Given the description of an element on the screen output the (x, y) to click on. 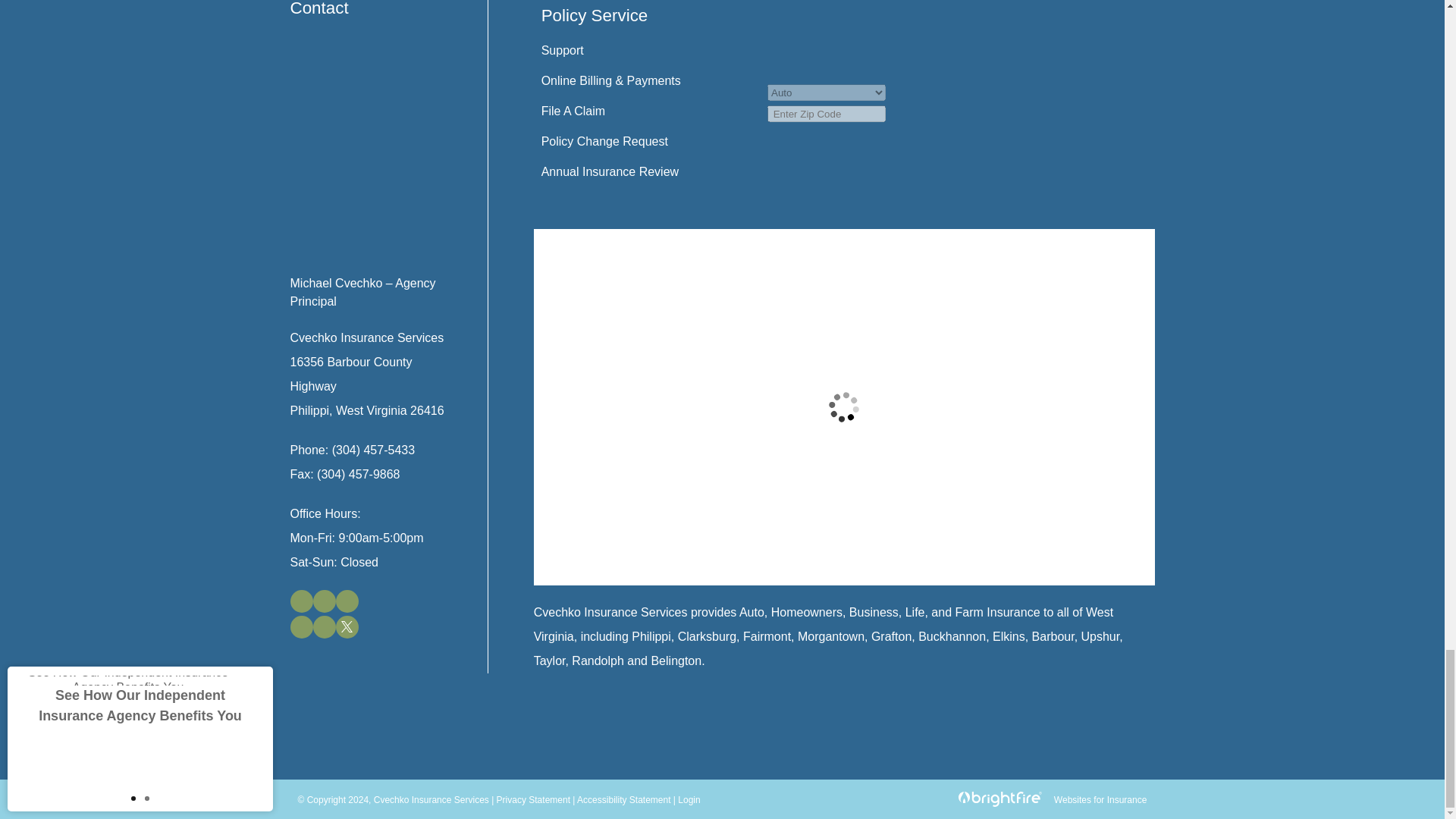
Expertise Badge (1020, 59)
